Given the description of an element on the screen output the (x, y) to click on. 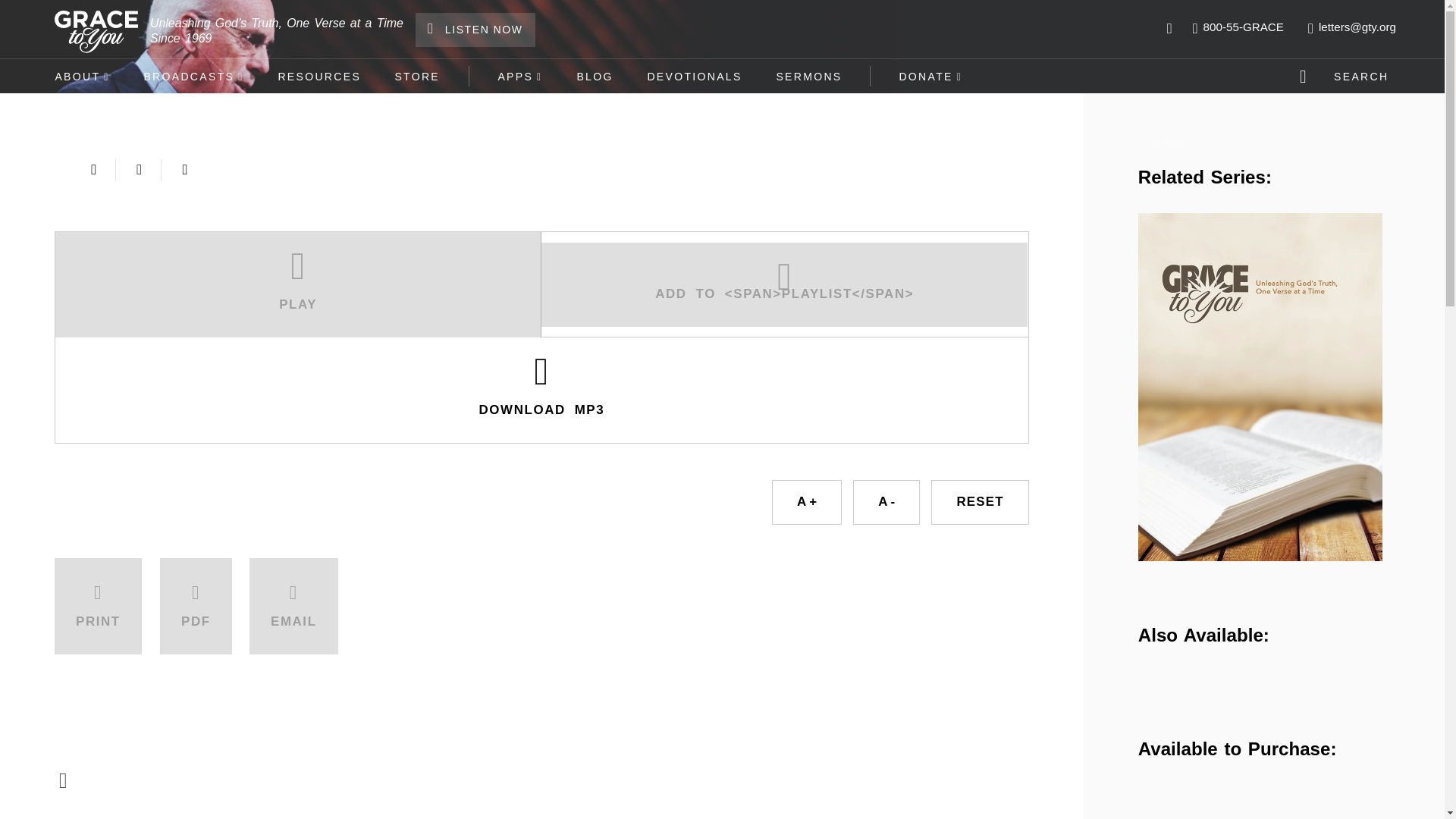
APPS (519, 76)
DONATE (930, 76)
LISTEN NOW (474, 29)
BLOG (594, 76)
STORE (417, 76)
SEARCH (1347, 76)
BROADCASTS (193, 76)
DEVOTIONALS (694, 76)
SERMONS (808, 76)
RESOURCES (318, 76)
